Given the description of an element on the screen output the (x, y) to click on. 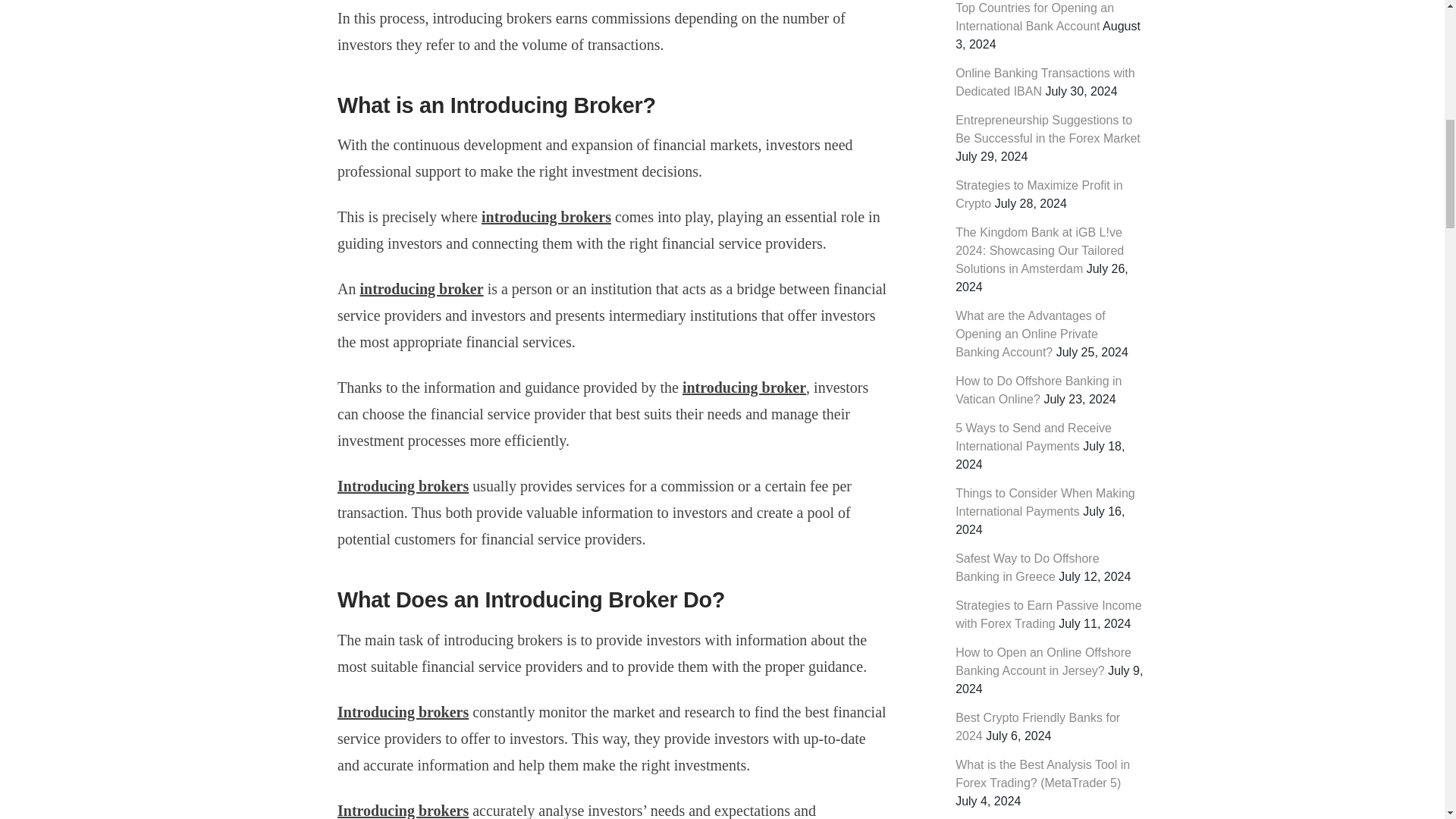
Safest Way to Do Offshore Banking in Greece (1027, 567)
Strategies to Maximize Profit in Crypto (1038, 194)
Strategies to Earn Passive Income with Forex Trading (1048, 613)
Online Banking Transactions with Dedicated IBAN (1045, 81)
How to Do Offshore Banking in Vatican Online? (1038, 389)
Things to Consider When Making International Payments (1045, 501)
Top Countries for Opening an International Bank Account (1034, 16)
